Given the description of an element on the screen output the (x, y) to click on. 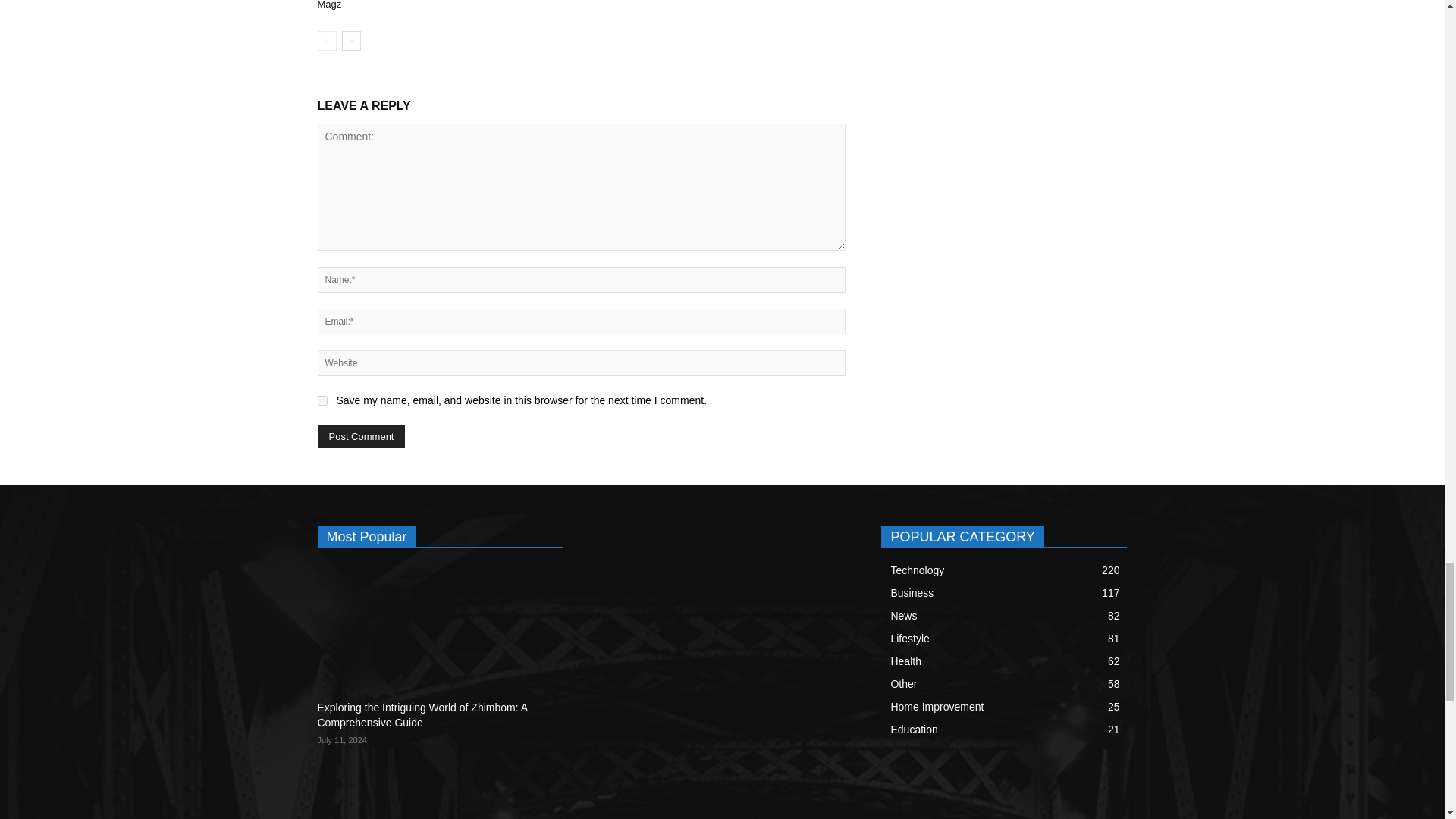
yes (321, 400)
Post Comment (360, 436)
